Given the description of an element on the screen output the (x, y) to click on. 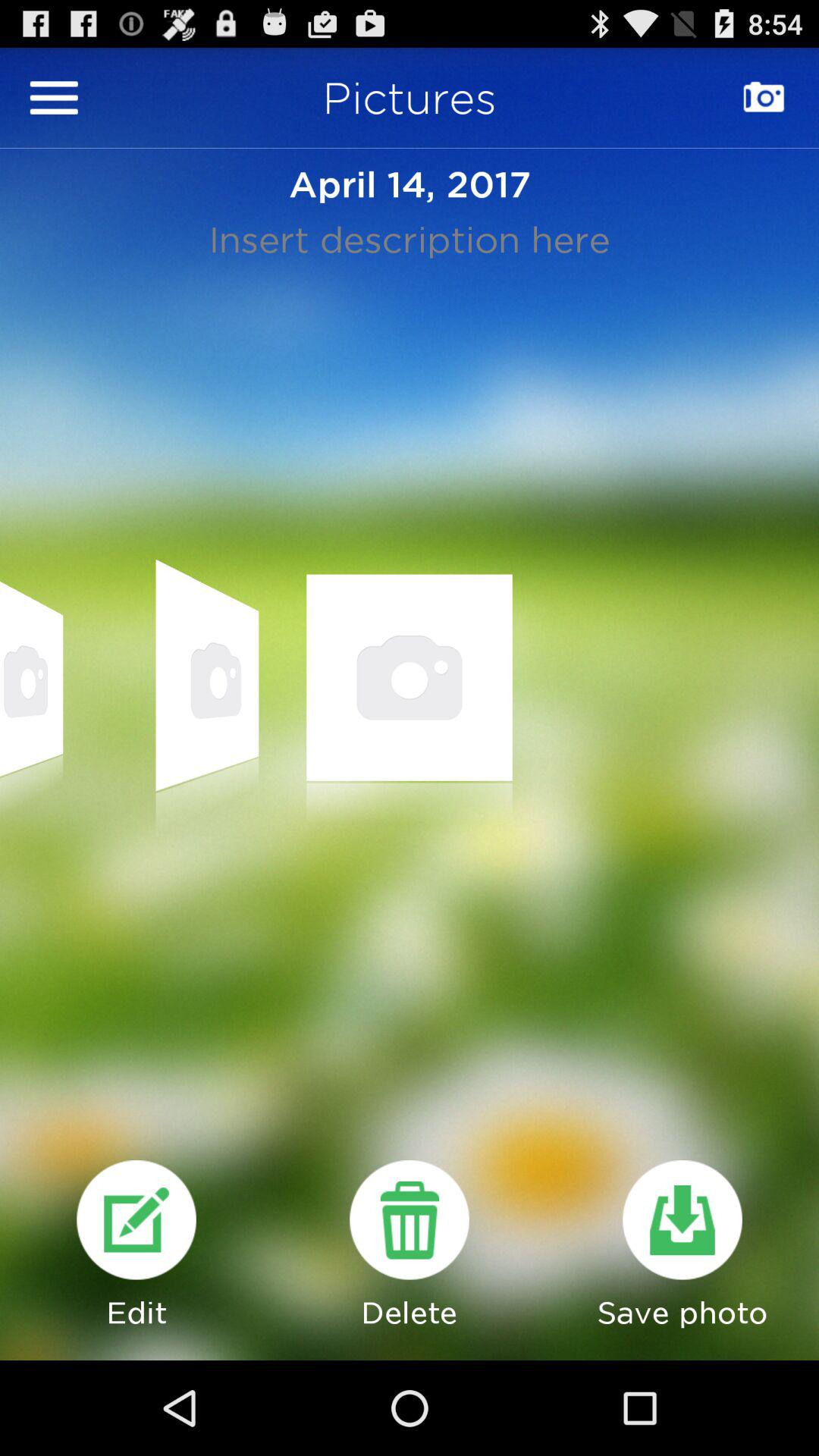
delete (409, 1219)
